Given the description of an element on the screen output the (x, y) to click on. 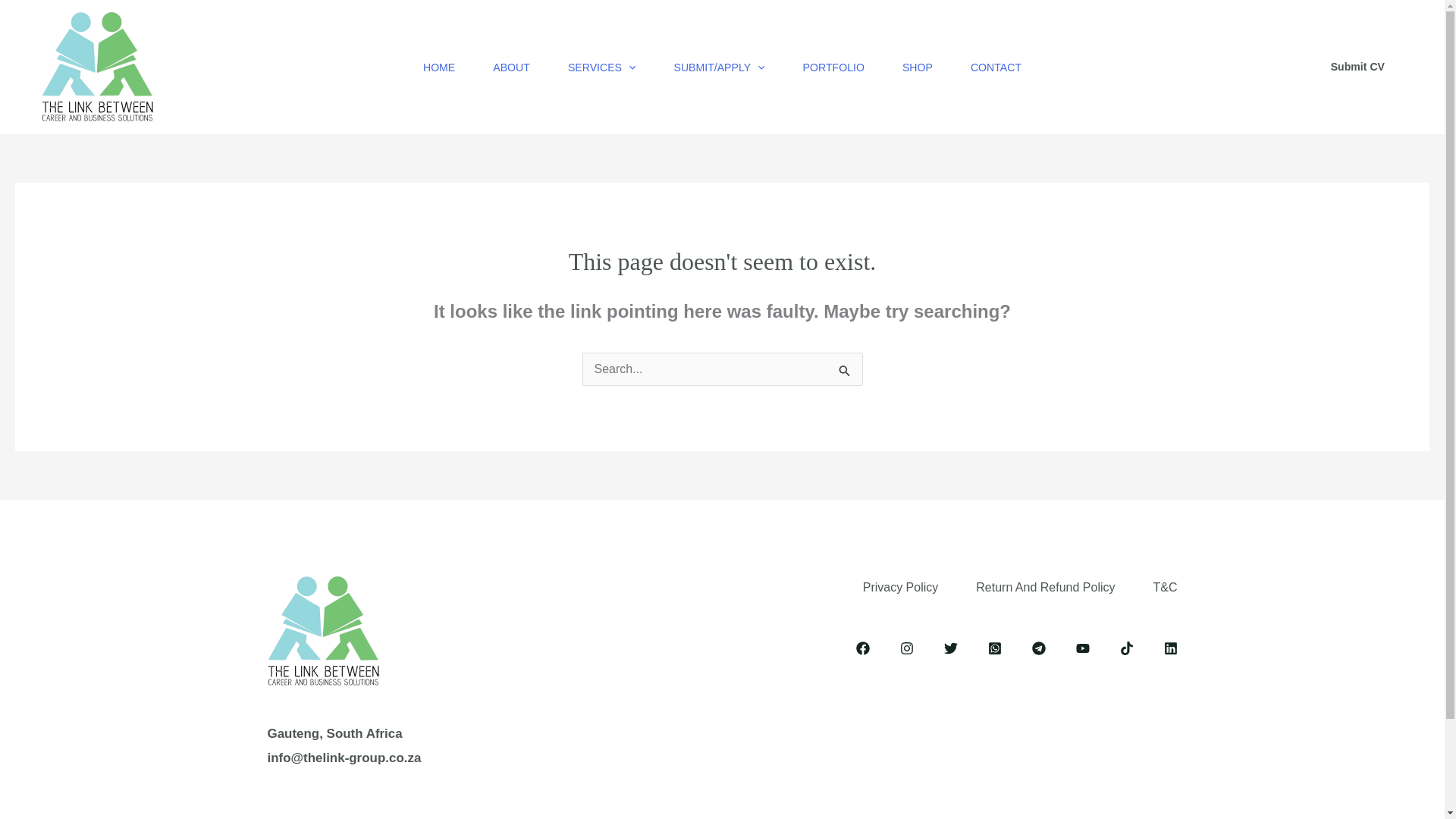
PORTFOLIO (833, 66)
SERVICES (601, 66)
Submit CV (1358, 66)
CONTACT (996, 66)
